Given the description of an element on the screen output the (x, y) to click on. 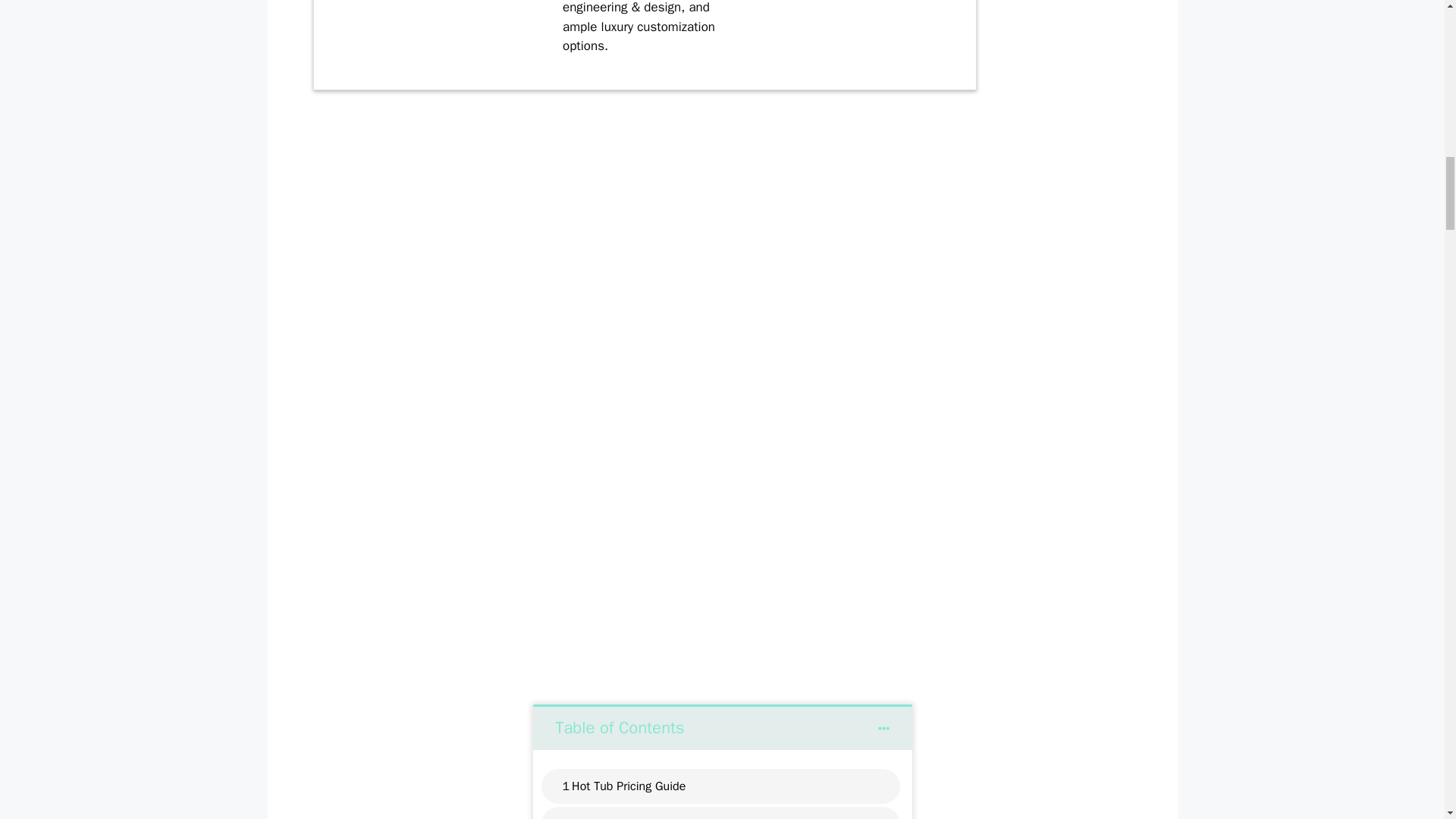
Frequently Asked Questions (645, 817)
Frequently Asked Questions (645, 817)
Hot Tub Pricing Guide (628, 786)
Hot Tub Pricing Guide (628, 786)
